Given the description of an element on the screen output the (x, y) to click on. 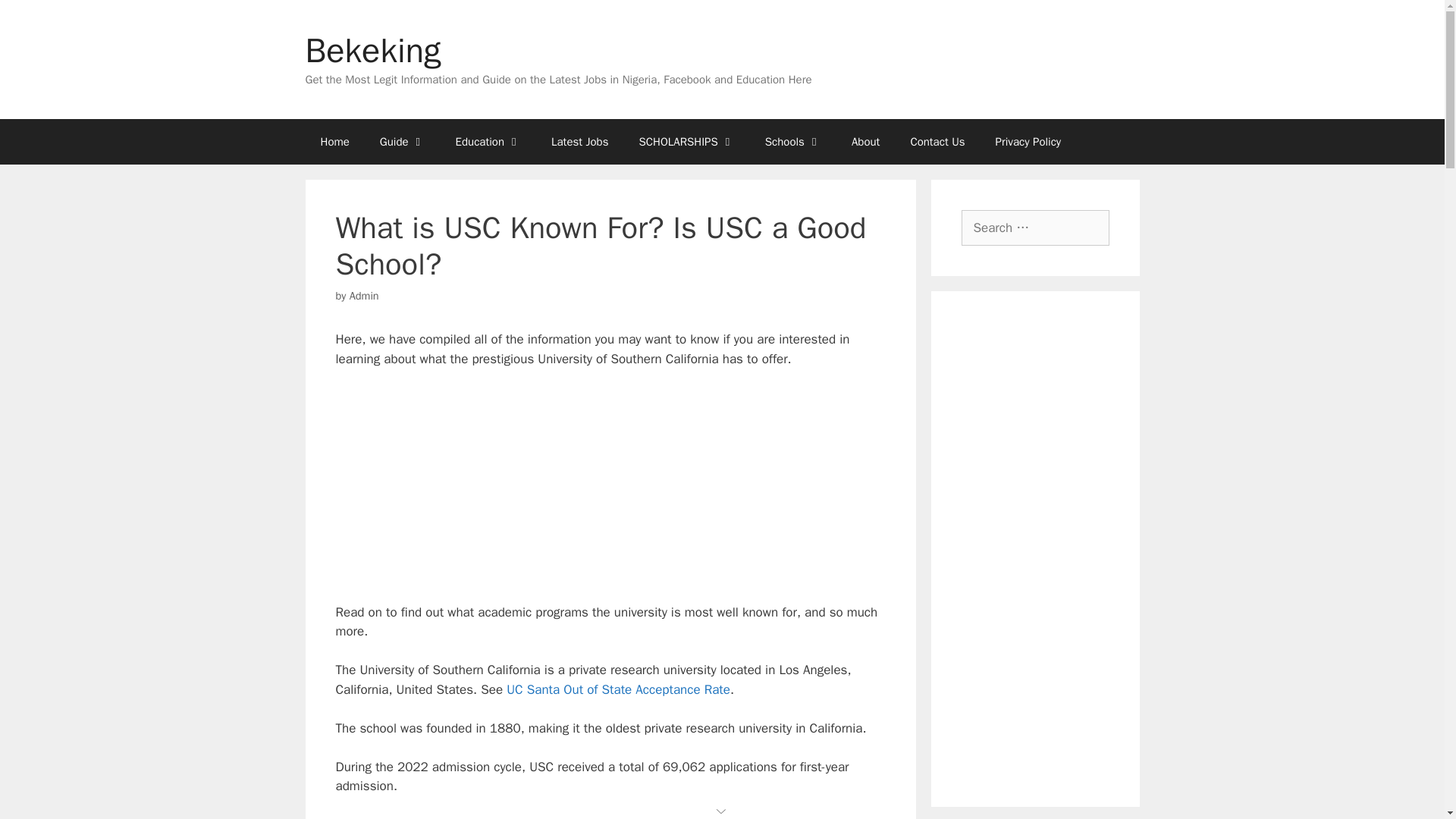
Schools (792, 140)
Guide (403, 140)
Bekeking (372, 50)
View all posts by Admin (363, 295)
Latest Jobs (579, 140)
Education (488, 140)
Home (334, 140)
Advertisement (610, 494)
SCHOLARSHIPS (686, 140)
Ad.Plus Advertising (722, 809)
